Given the description of an element on the screen output the (x, y) to click on. 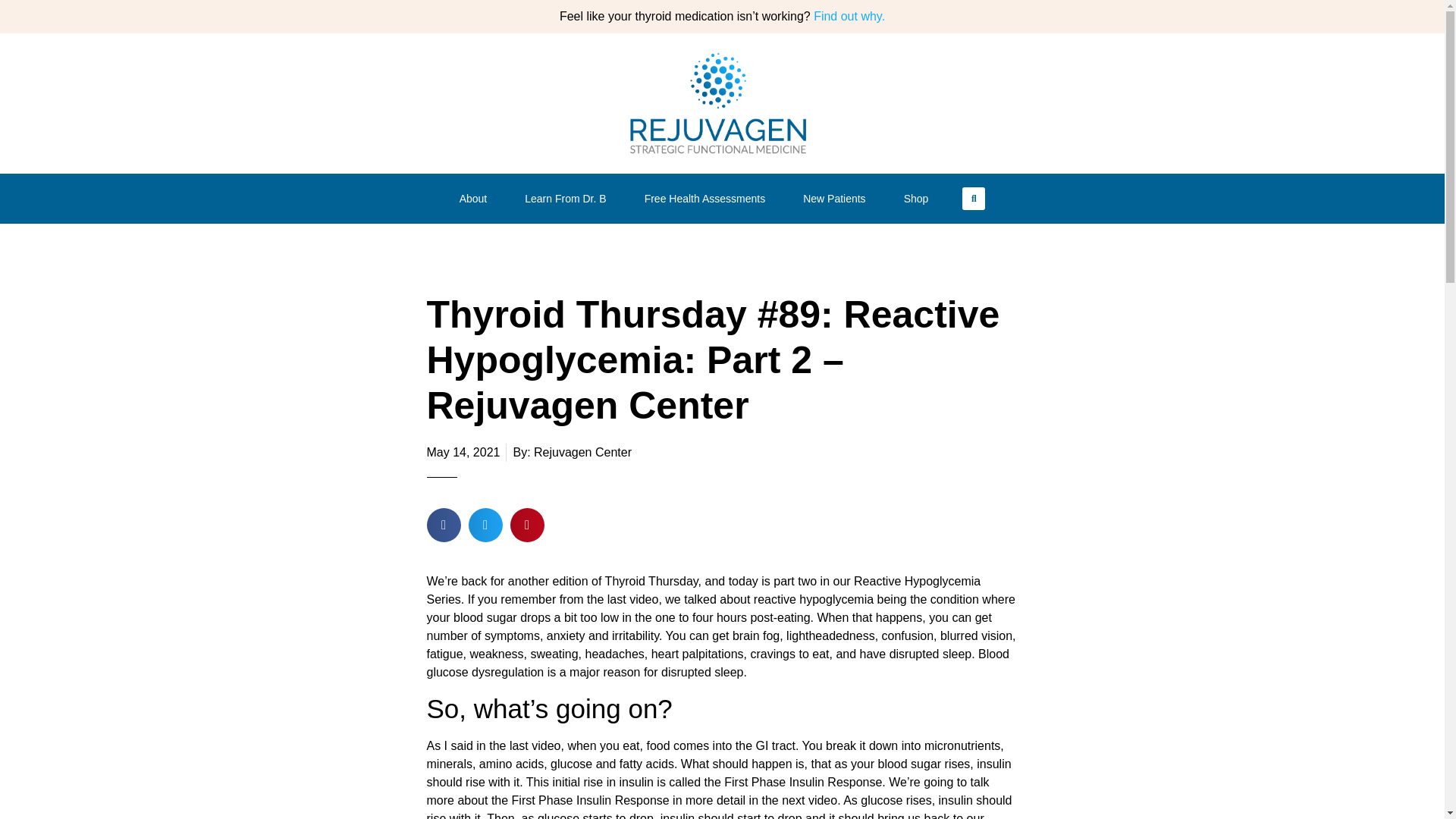
Free Health Assessments (709, 198)
Learn From Dr. B (568, 198)
Find out why. (849, 15)
About (477, 198)
New Patients (837, 198)
Shop (920, 198)
